Given the description of an element on the screen output the (x, y) to click on. 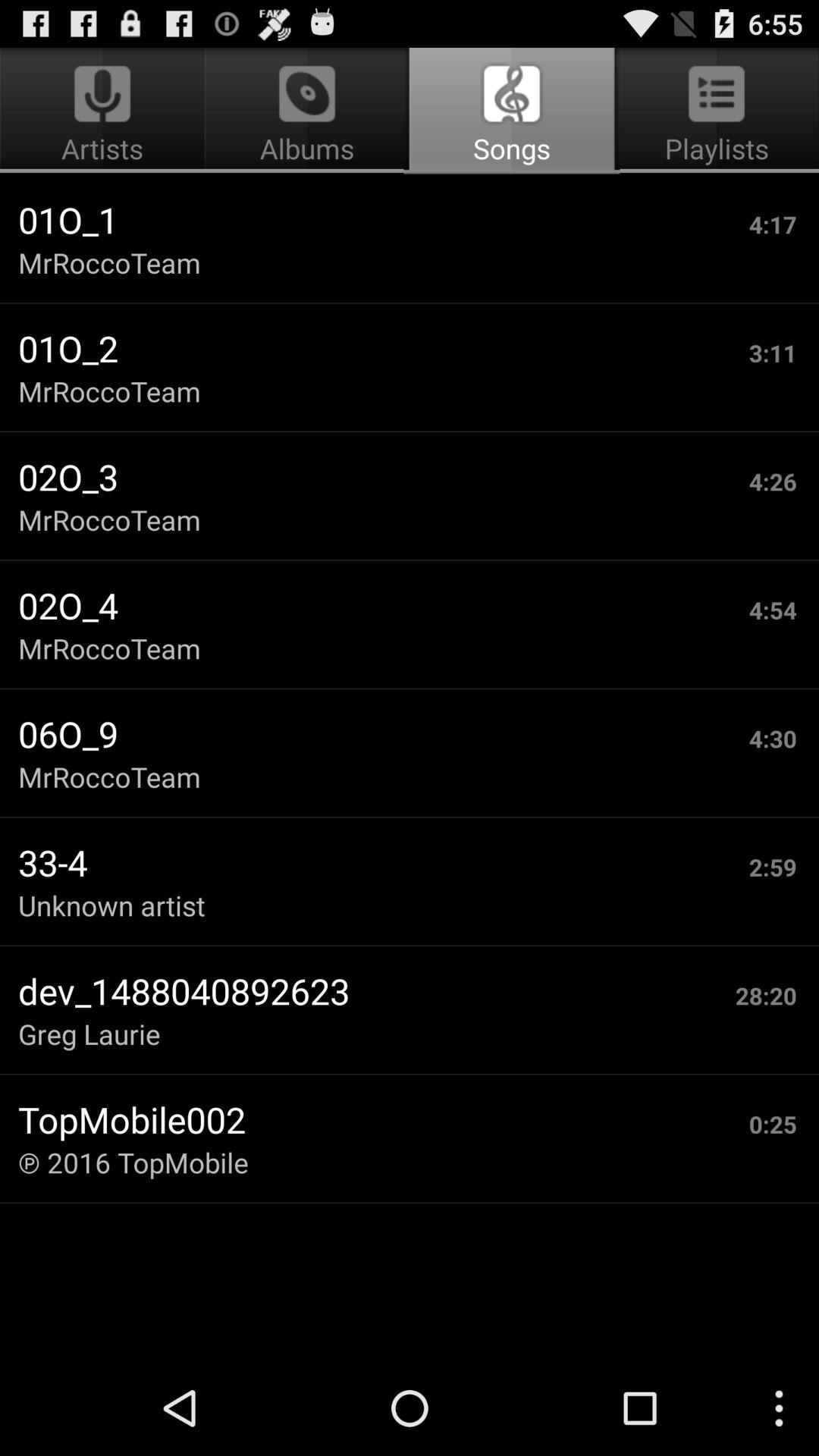
click albums app (307, 111)
